Given the description of an element on the screen output the (x, y) to click on. 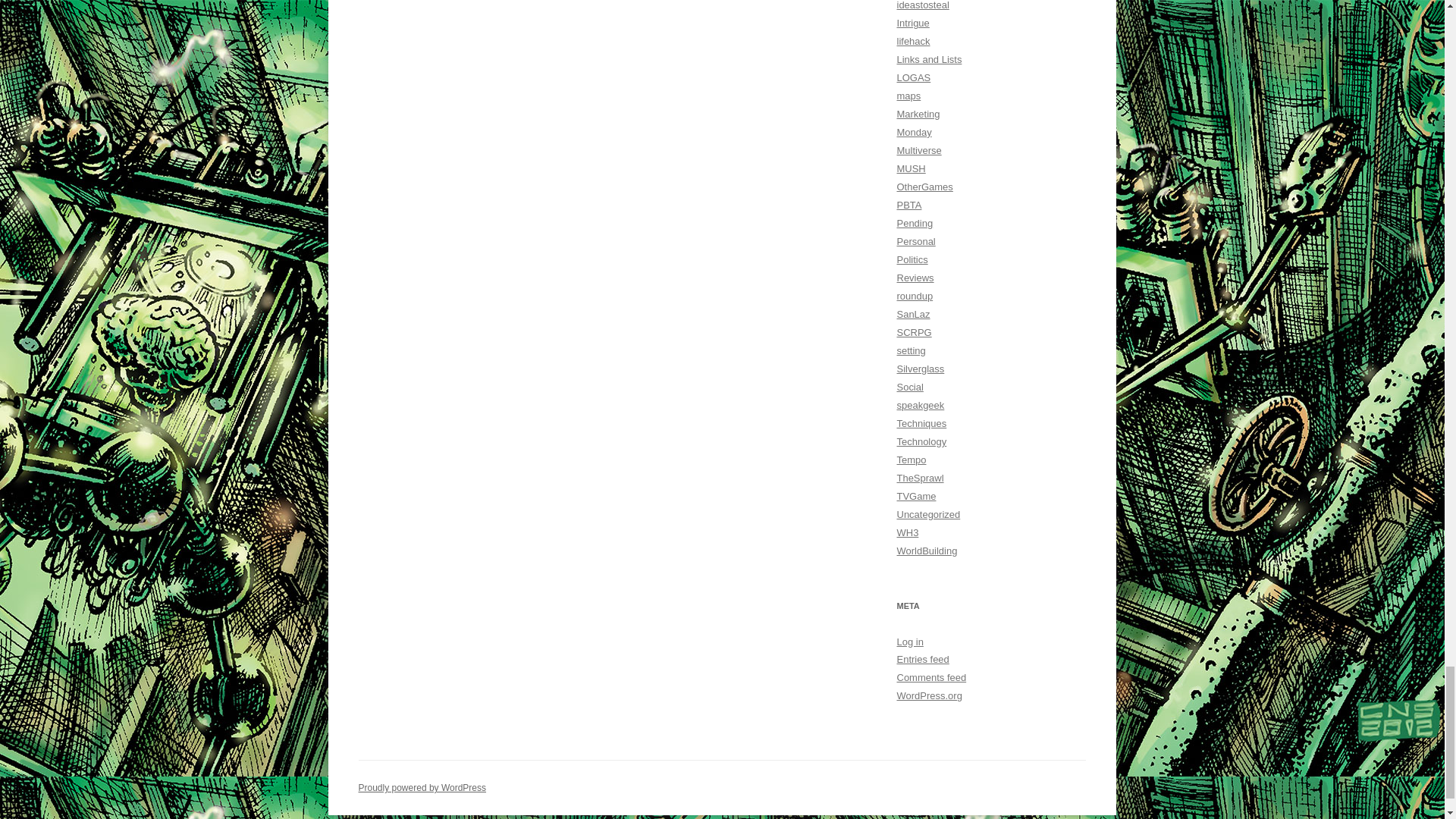
Semantic Personal Publishing Platform (422, 787)
